Given the description of an element on the screen output the (x, y) to click on. 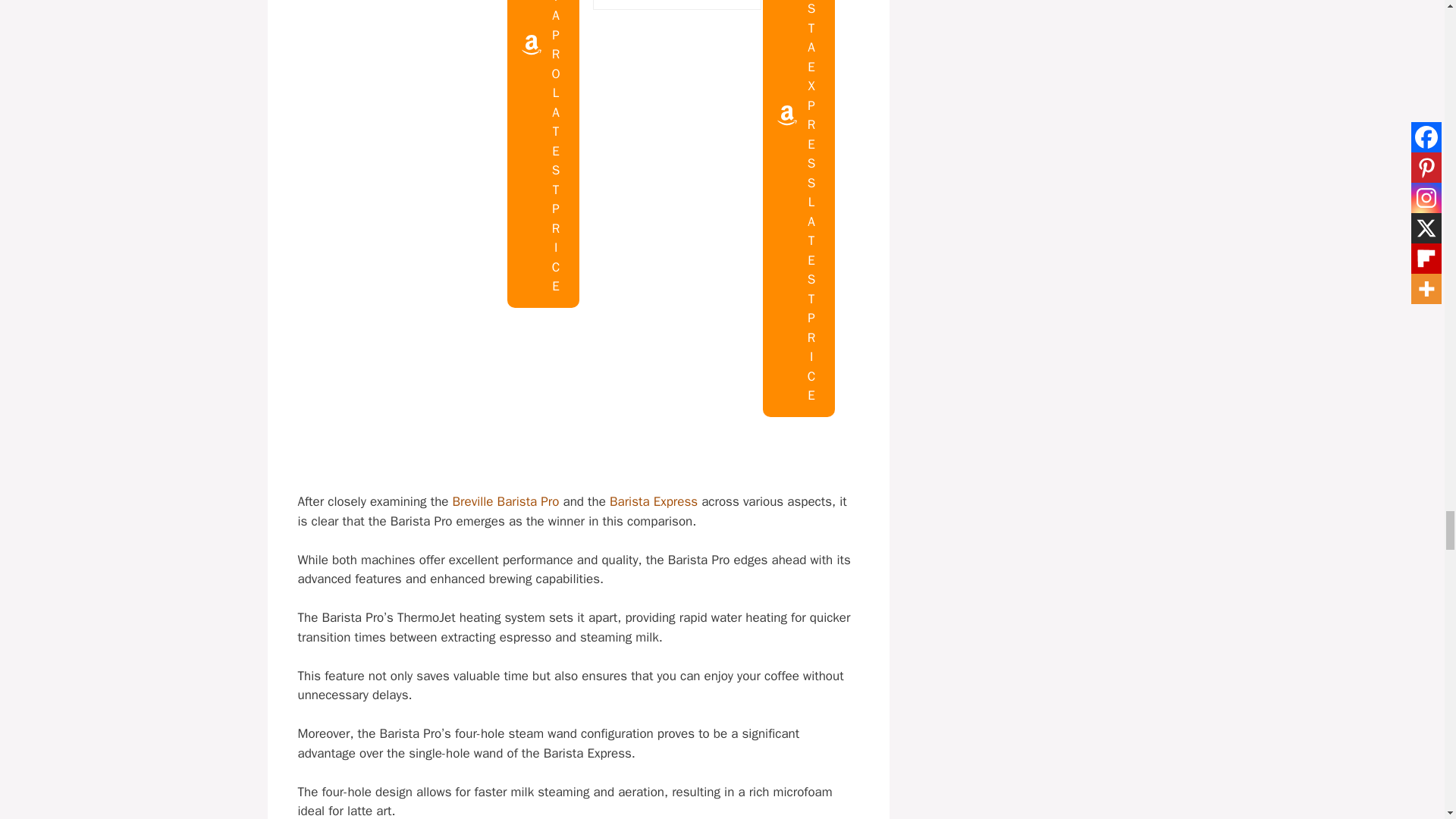
Barista Express (653, 501)
Breville Barista Pro (505, 501)
